Given the description of an element on the screen output the (x, y) to click on. 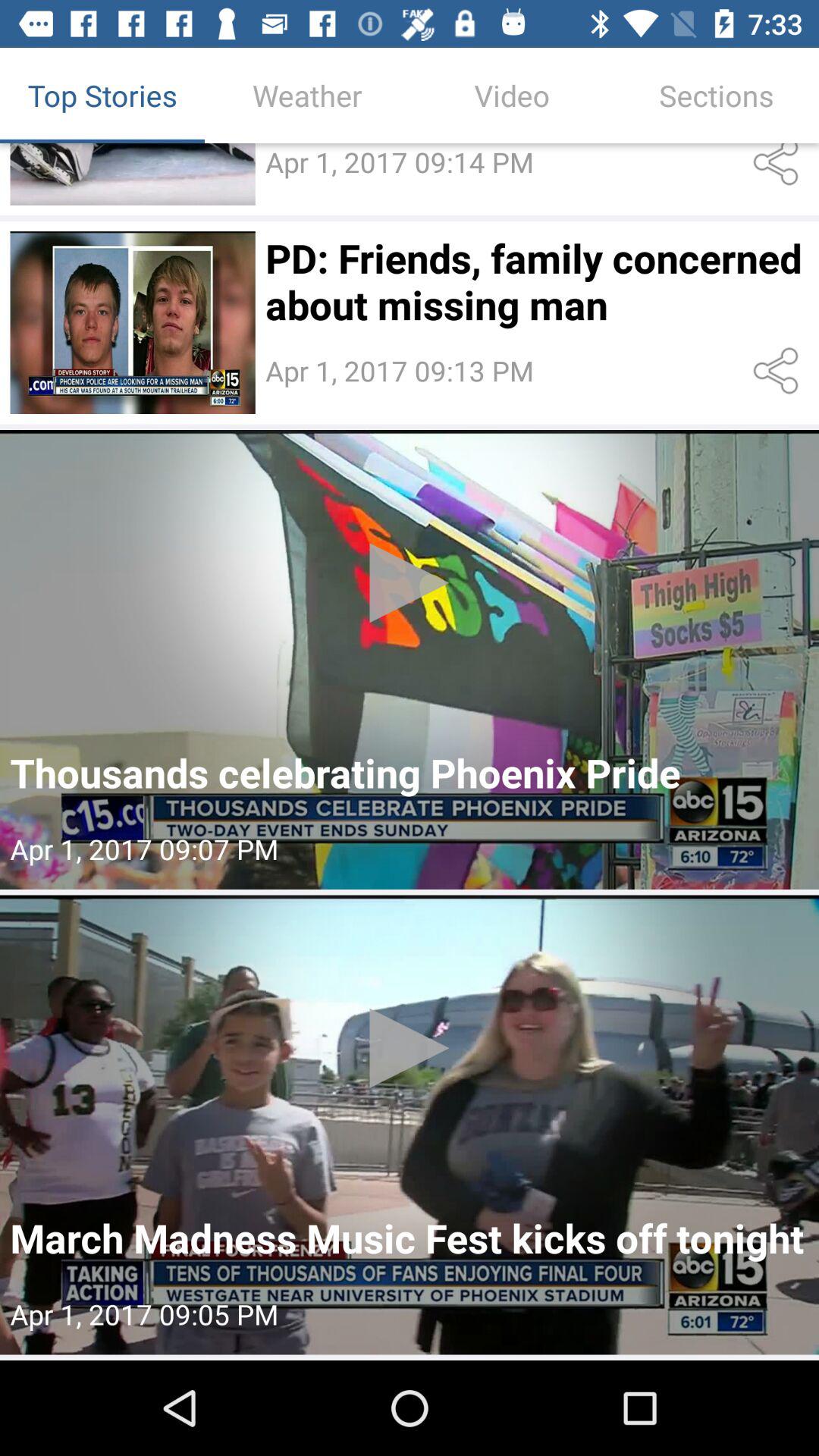
new article thousands celebrating phoenix pride (409, 659)
